Given the description of an element on the screen output the (x, y) to click on. 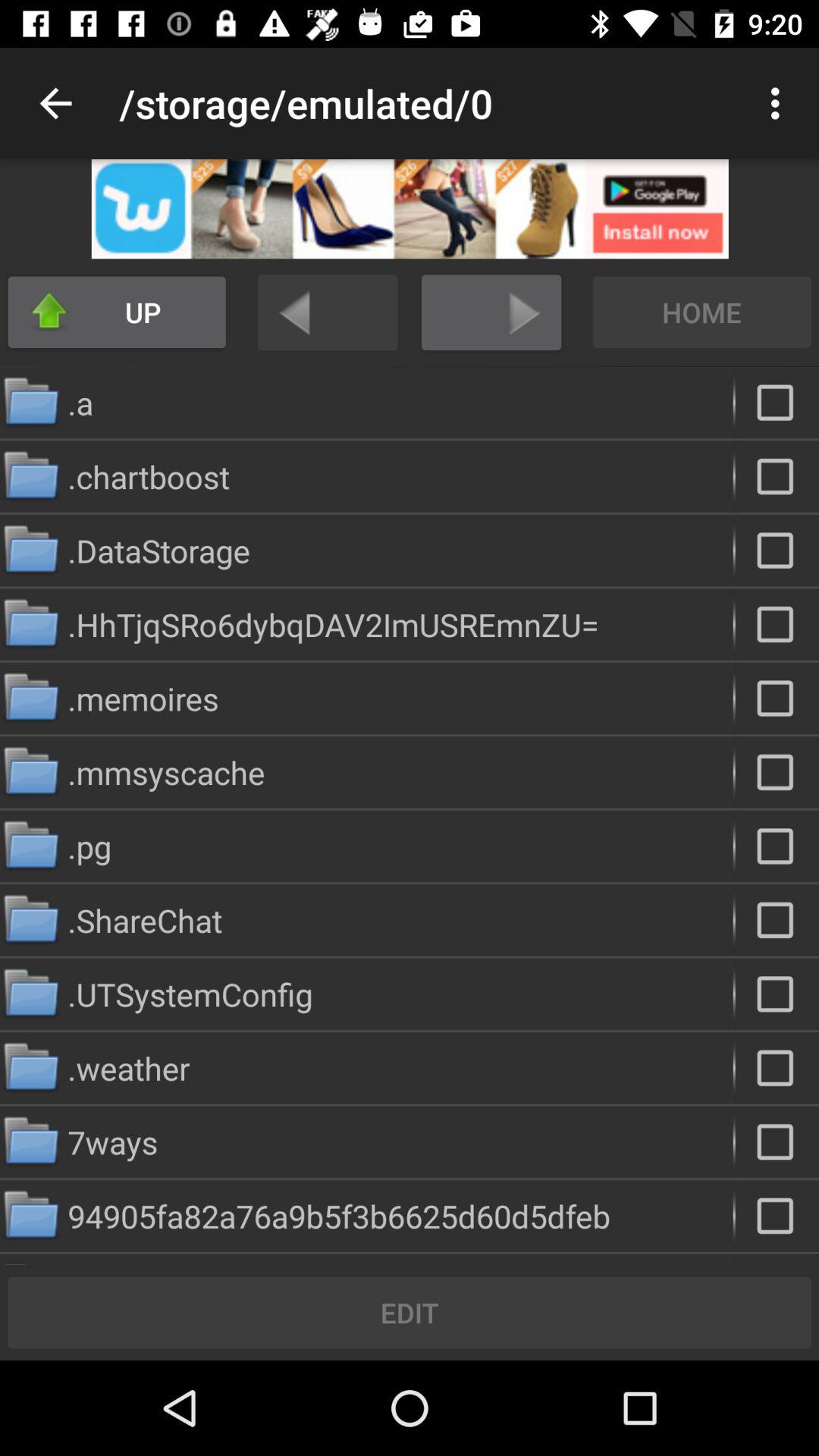
select folder (777, 994)
